Given the description of an element on the screen output the (x, y) to click on. 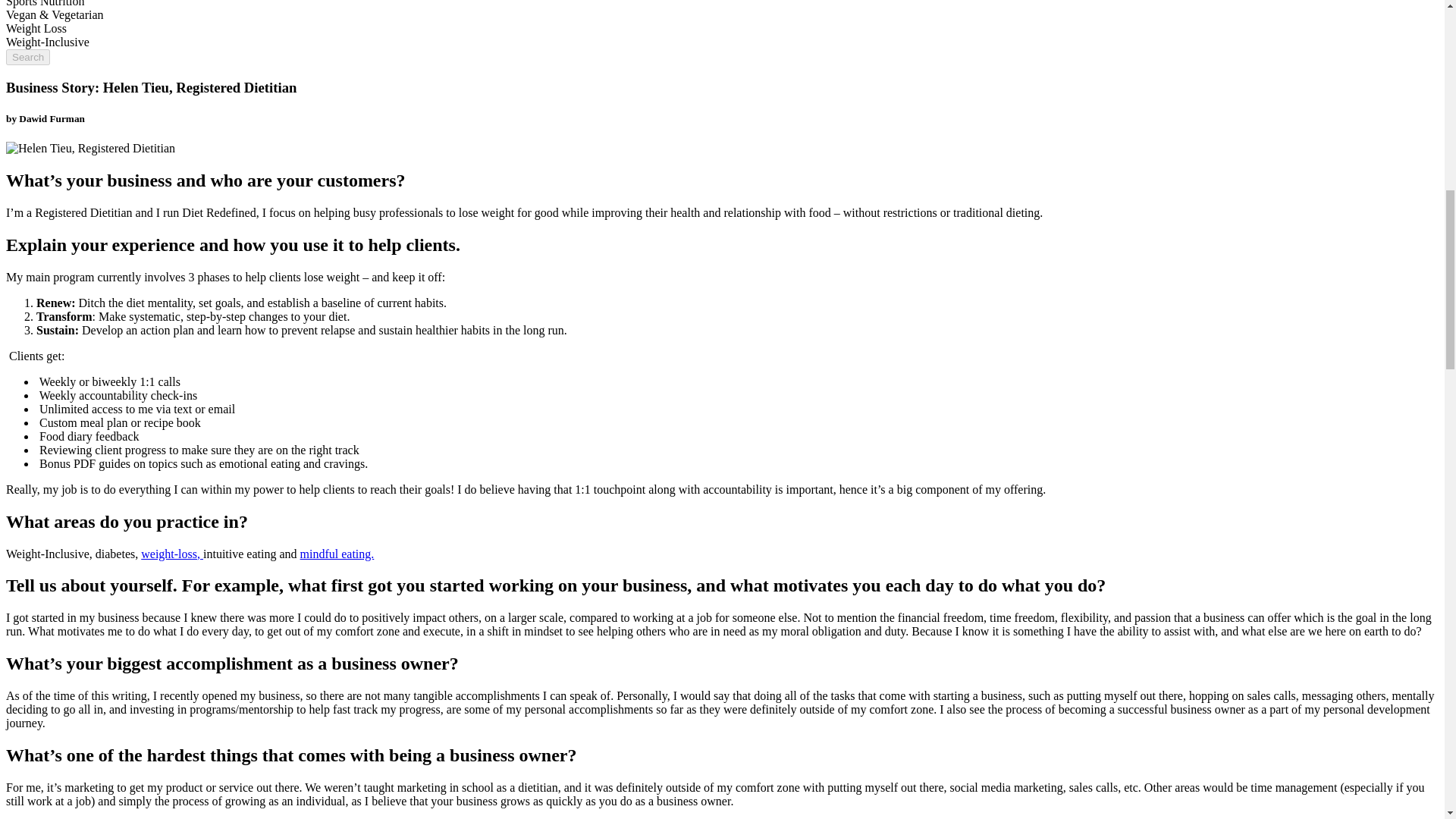
mindful eating. (336, 553)
weight-loss, (172, 553)
Search (27, 57)
